Given the description of an element on the screen output the (x, y) to click on. 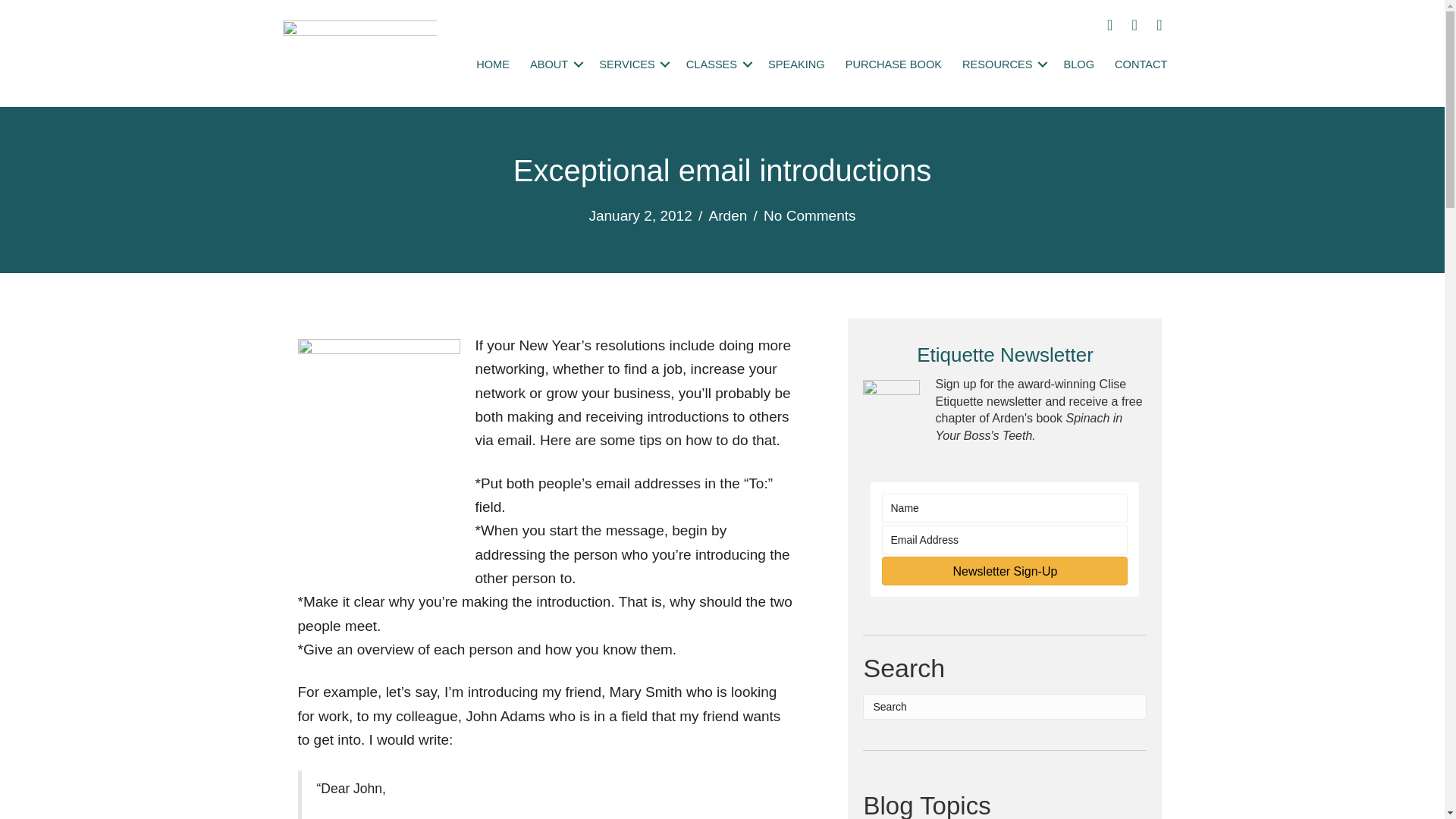
PURCHASE BOOK (893, 64)
SPEAKING (796, 64)
HOME (492, 64)
No Comments (809, 215)
SERVICES (632, 64)
RESOURCES (1002, 64)
Arden (728, 215)
BLOG (1079, 64)
CONTACT (1140, 64)
ABOUT (553, 64)
